Given the description of an element on the screen output the (x, y) to click on. 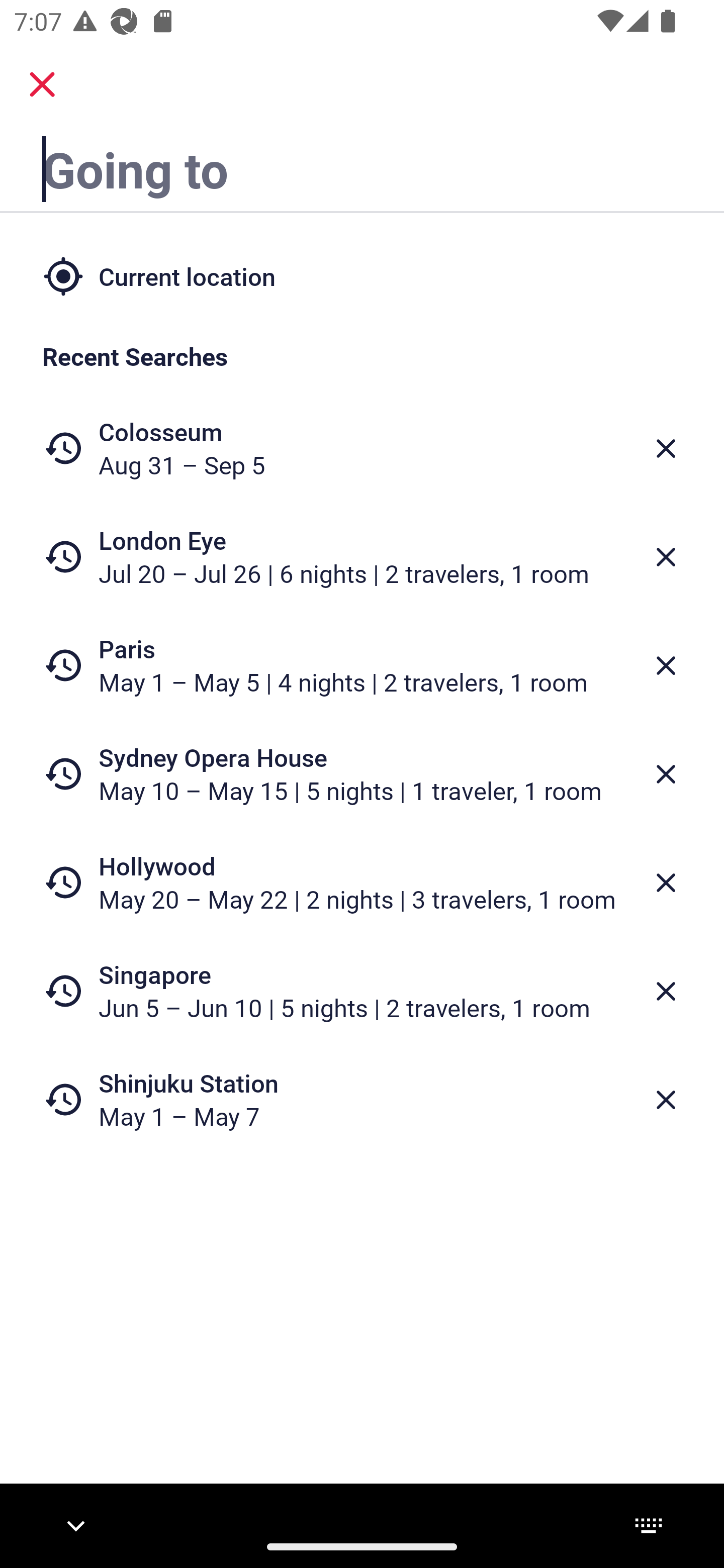
close. (42, 84)
Current location (362, 275)
Colosseum Aug 31 – Sep 5 (362, 448)
Delete from recent searches (666, 448)
Delete from recent searches (666, 556)
Delete from recent searches (666, 666)
Delete from recent searches (666, 774)
Delete from recent searches (666, 882)
Delete from recent searches (666, 990)
Shinjuku Station May 1 – May 7 (362, 1099)
Delete from recent searches (666, 1100)
